Given the description of an element on the screen output the (x, y) to click on. 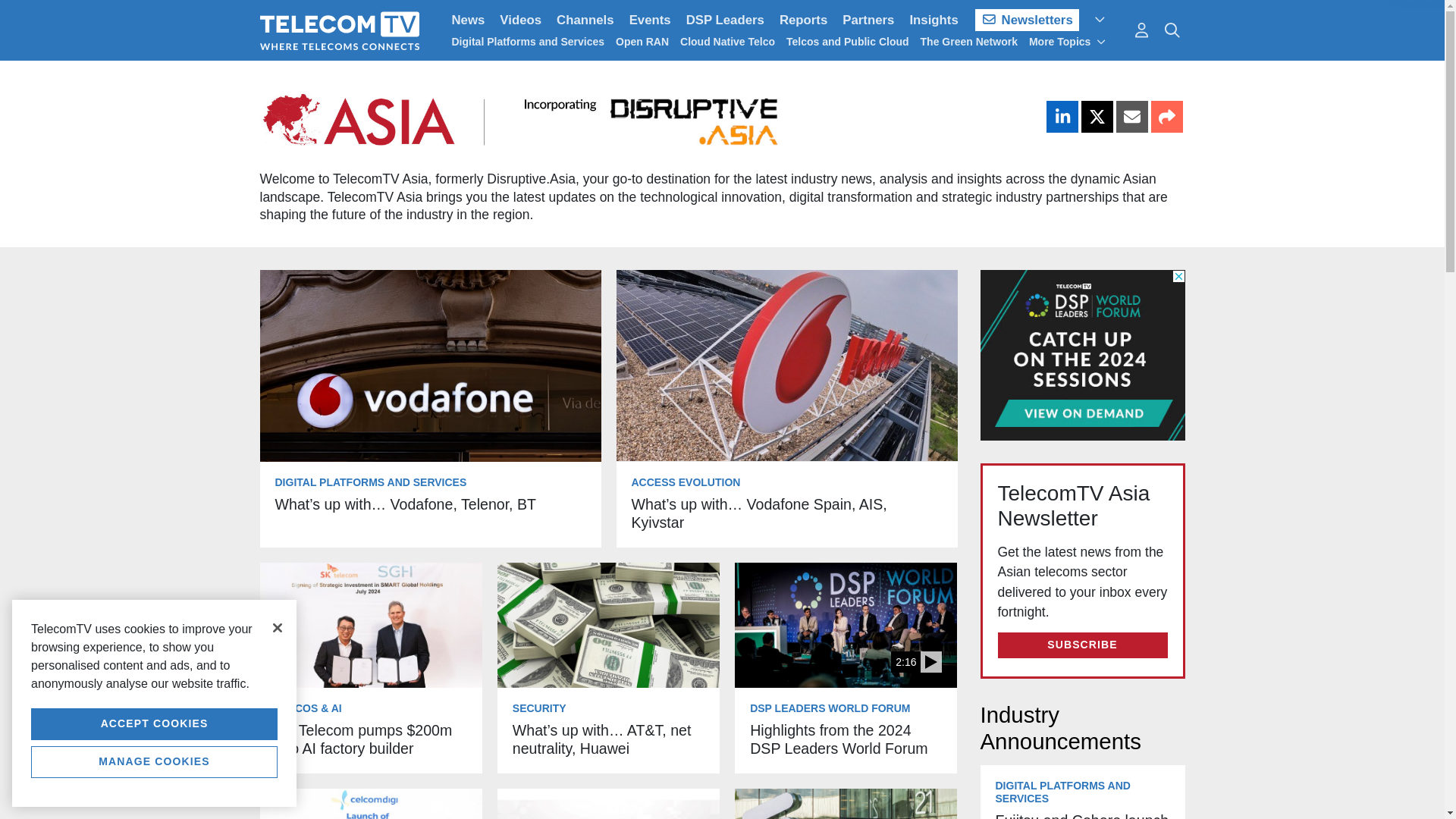
Videos (520, 20)
Partners (867, 20)
Cloud Native Telco (726, 41)
News (468, 20)
Channels (585, 20)
Events (650, 20)
Newsletters (1026, 20)
DSP Leaders (724, 20)
Reports (802, 20)
Open RAN (641, 41)
Telcos and Public Cloud (847, 41)
Digital Platforms and Services (528, 41)
Insights (932, 20)
More Topics (1067, 41)
The Green Network (968, 41)
